Given the description of an element on the screen output the (x, y) to click on. 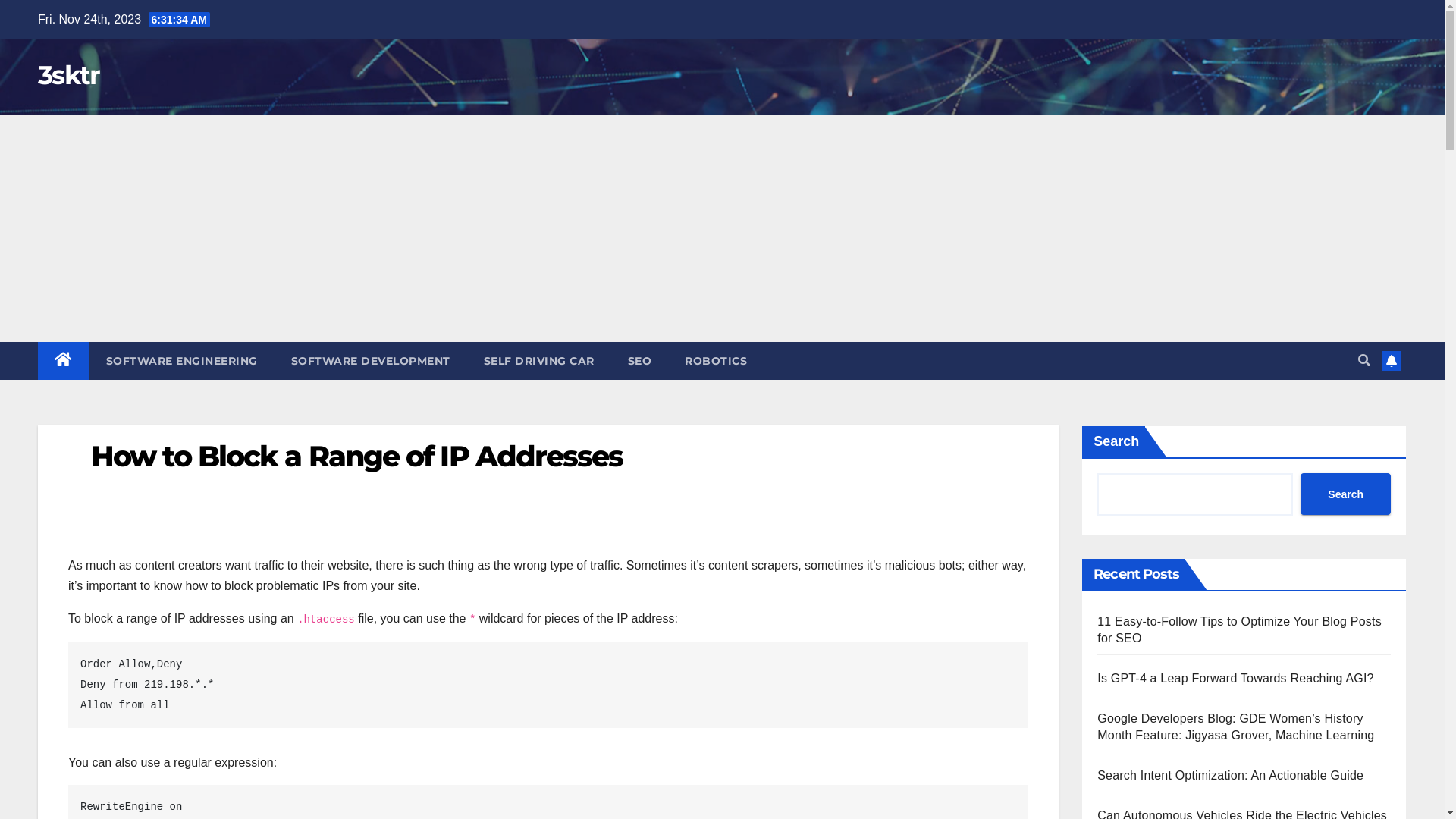
SOFTWARE DEVELOPMENT Element type: text (370, 360)
Is GPT-4 a Leap Forward Towards Reaching AGI? Element type: text (1235, 677)
How to Block a Range of IP Addresses Element type: text (357, 455)
SELF DRIVING CAR Element type: text (539, 360)
3sktr Element type: text (68, 75)
Search Element type: text (1345, 493)
SOFTWARE ENGINEERING Element type: text (181, 360)
ROBOTICS Element type: text (715, 360)
Advertisement Element type: hover (721, 228)
SEO Element type: text (639, 360)
Search Intent Optimization: An Actionable Guide Element type: text (1230, 774)
11 Easy-to-Follow Tips to Optimize Your Blog Posts for SEO Element type: text (1239, 629)
